Given the description of an element on the screen output the (x, y) to click on. 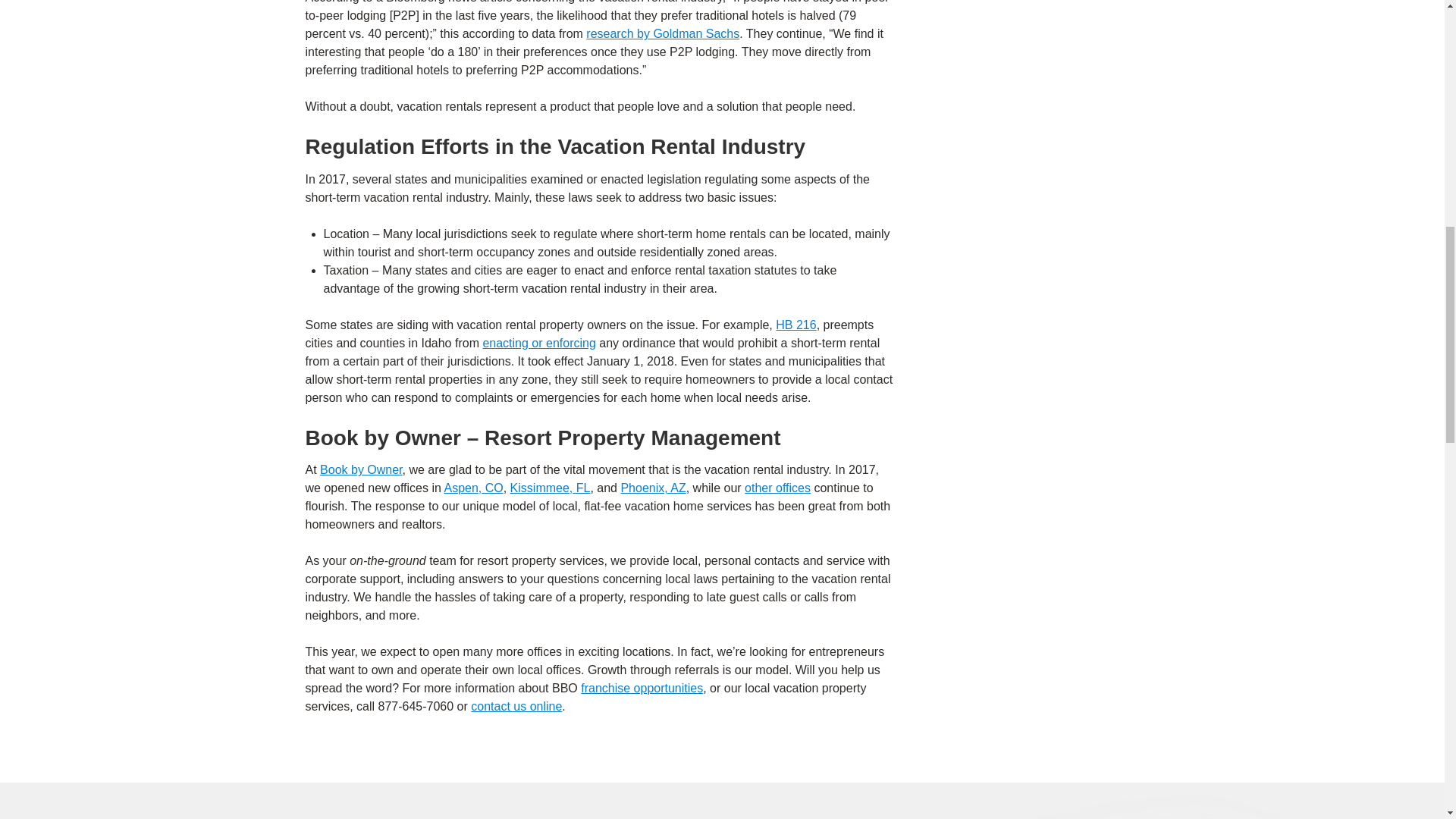
Kissimmee, FL (551, 487)
contact us online (516, 706)
Aspen, CO (473, 487)
research by Goldman Sachs (662, 33)
other offices (777, 487)
franchise opportunities (641, 687)
Book by Owner (361, 469)
Phoenix, AZ (652, 487)
enacting or enforcing (538, 342)
HB 216 (795, 324)
